Given the description of an element on the screen output the (x, y) to click on. 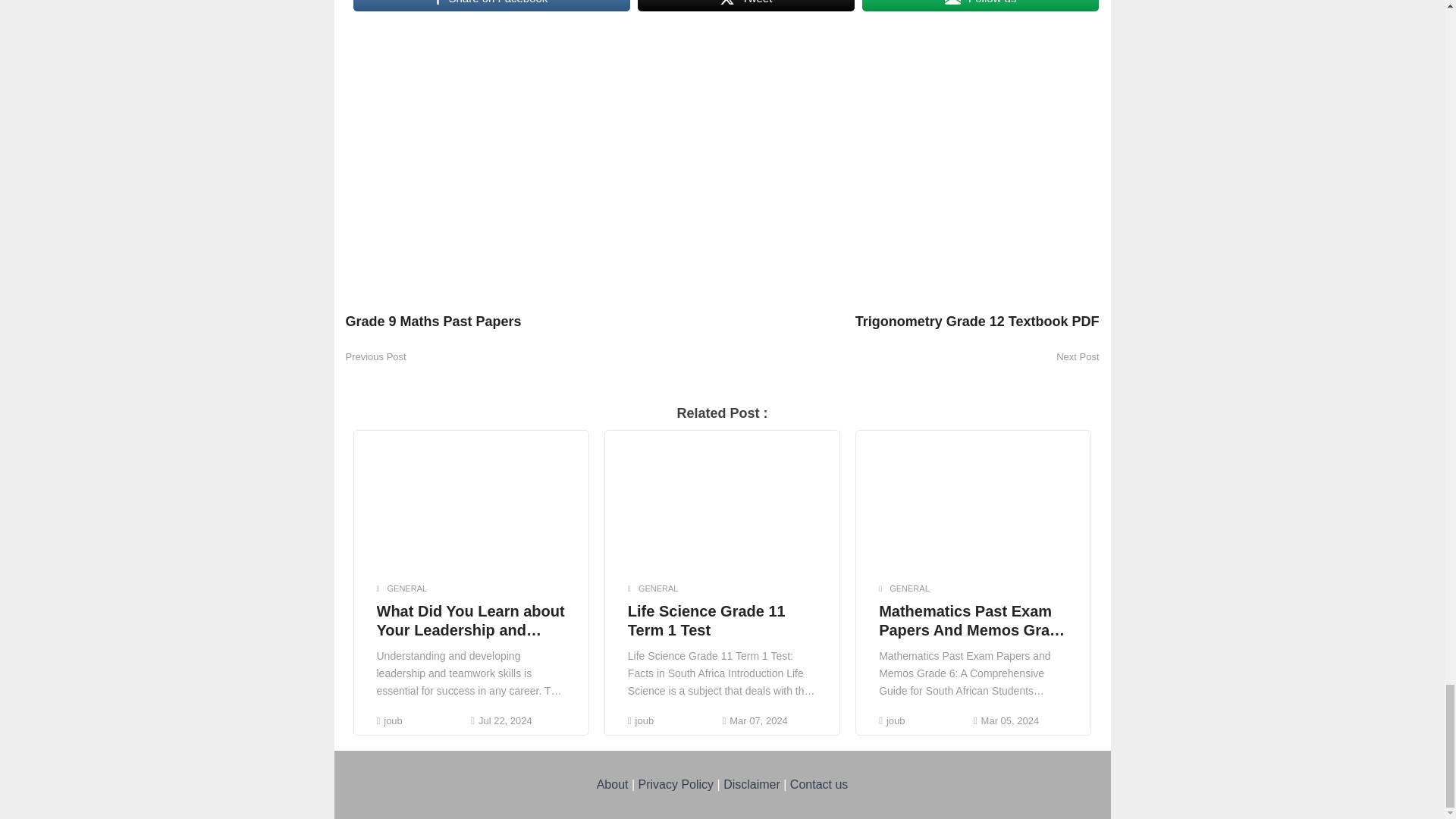
Grade 9 Maths Past Papers (534, 328)
About (612, 784)
Disclaimer (751, 784)
Contact us (818, 784)
Follow us (980, 6)
Tweet (745, 6)
Privacy Policy (676, 784)
Trigonometry Grade 12 Textbook PDF (910, 328)
Share on Facebook (491, 6)
